Given the description of an element on the screen output the (x, y) to click on. 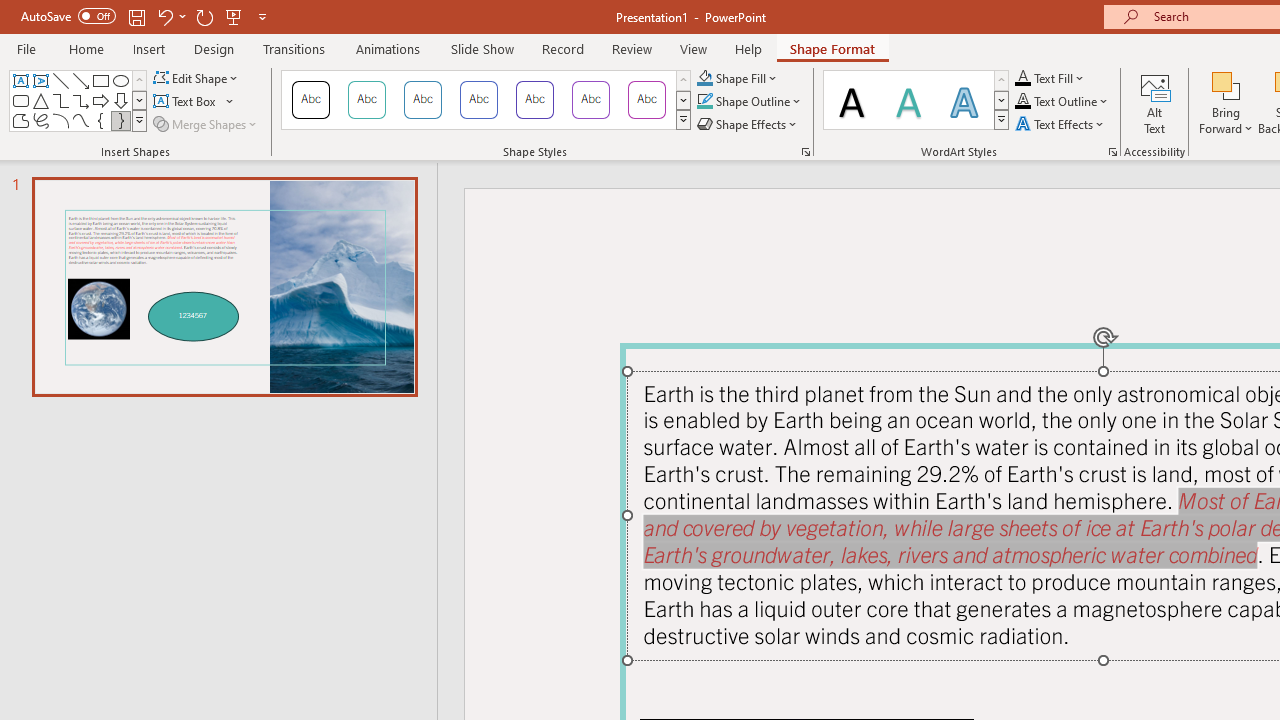
Row Down (1001, 100)
Insert (149, 48)
Alt Text (1155, 102)
Shape Format (832, 48)
Freeform: Scribble (40, 120)
Quick Access Toolbar (145, 16)
Design (214, 48)
Colored Outline - Teal, Accent 1 (367, 100)
Quick Styles (1001, 120)
Text Fill RGB(0, 0, 0) (1023, 78)
Shape Effects (748, 124)
Colored Outline - Aqua, Accent 2 (422, 100)
Format Text Effects... (1112, 151)
Fill: Aqua, Accent color 2; Outline: Aqua, Accent color 2 (964, 100)
Home (86, 48)
